Given the description of an element on the screen output the (x, y) to click on. 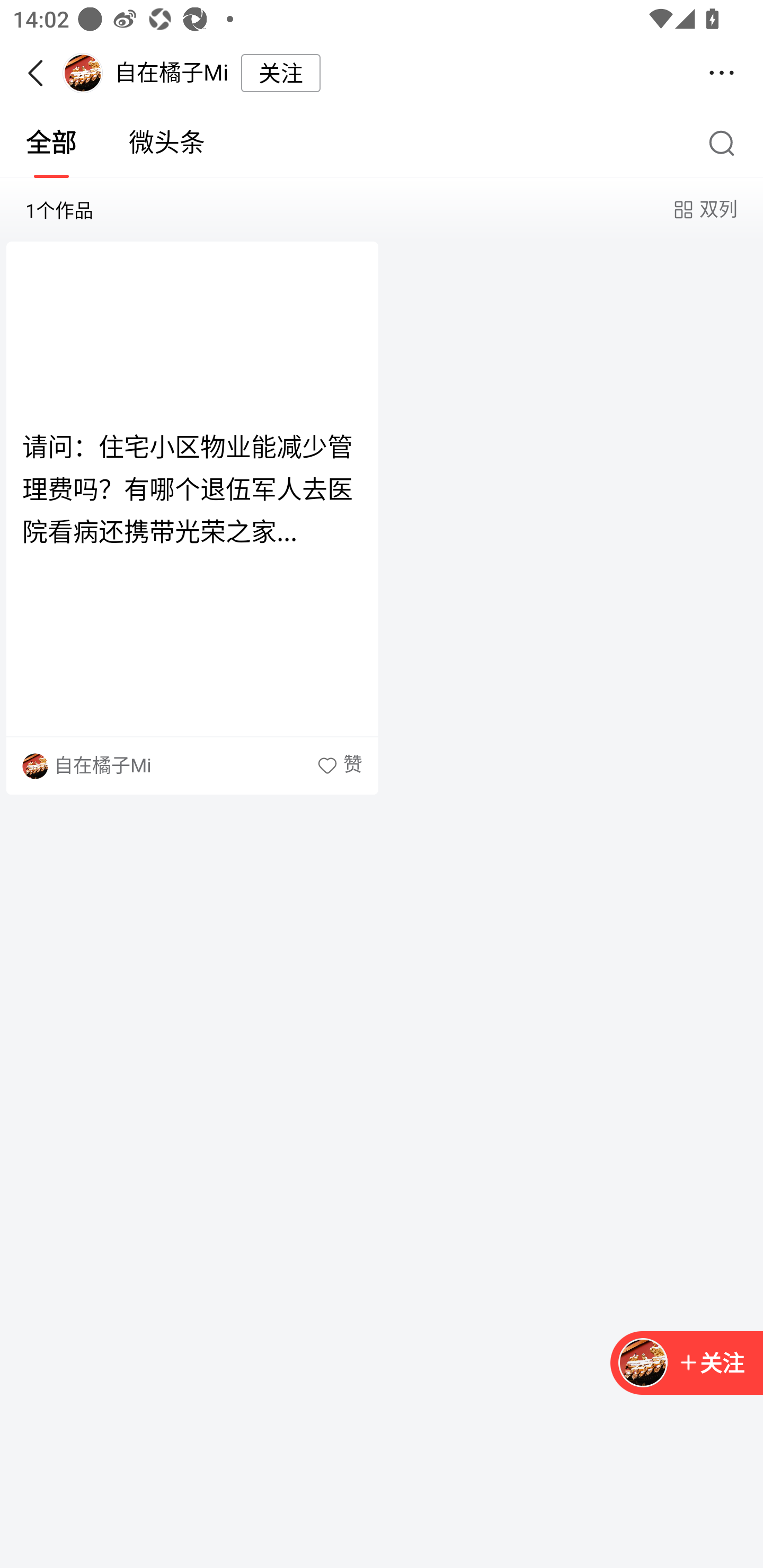
返回 (41, 72)
更多操作 (721, 72)
关注 (280, 72)
全部 (51, 143)
微头条 (167, 143)
搜索 (726, 142)
双列 当前双列点按切换至单列 (703, 209)
    关注 (686, 1363)
    关注 (711, 1363)
